Given the description of an element on the screen output the (x, y) to click on. 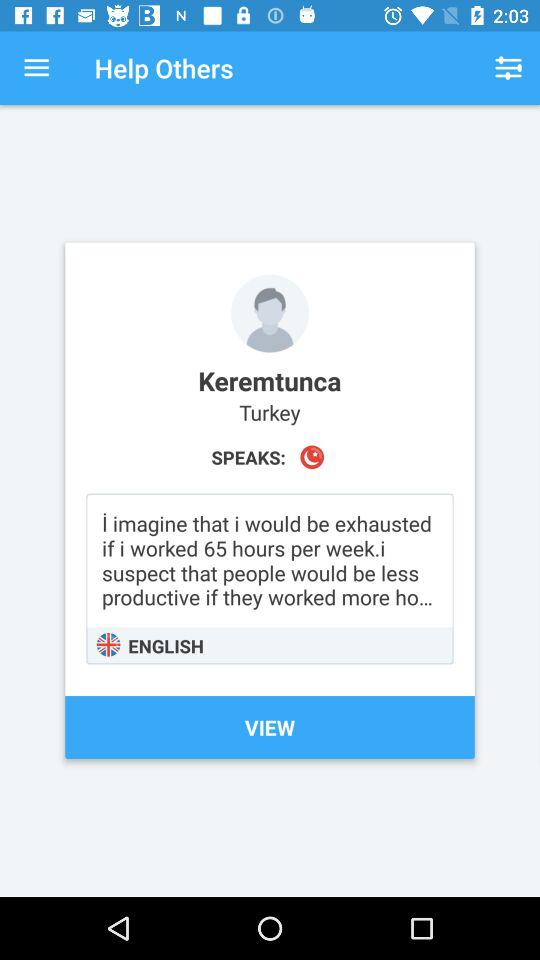
add or change profile picture (269, 313)
